Given the description of an element on the screen output the (x, y) to click on. 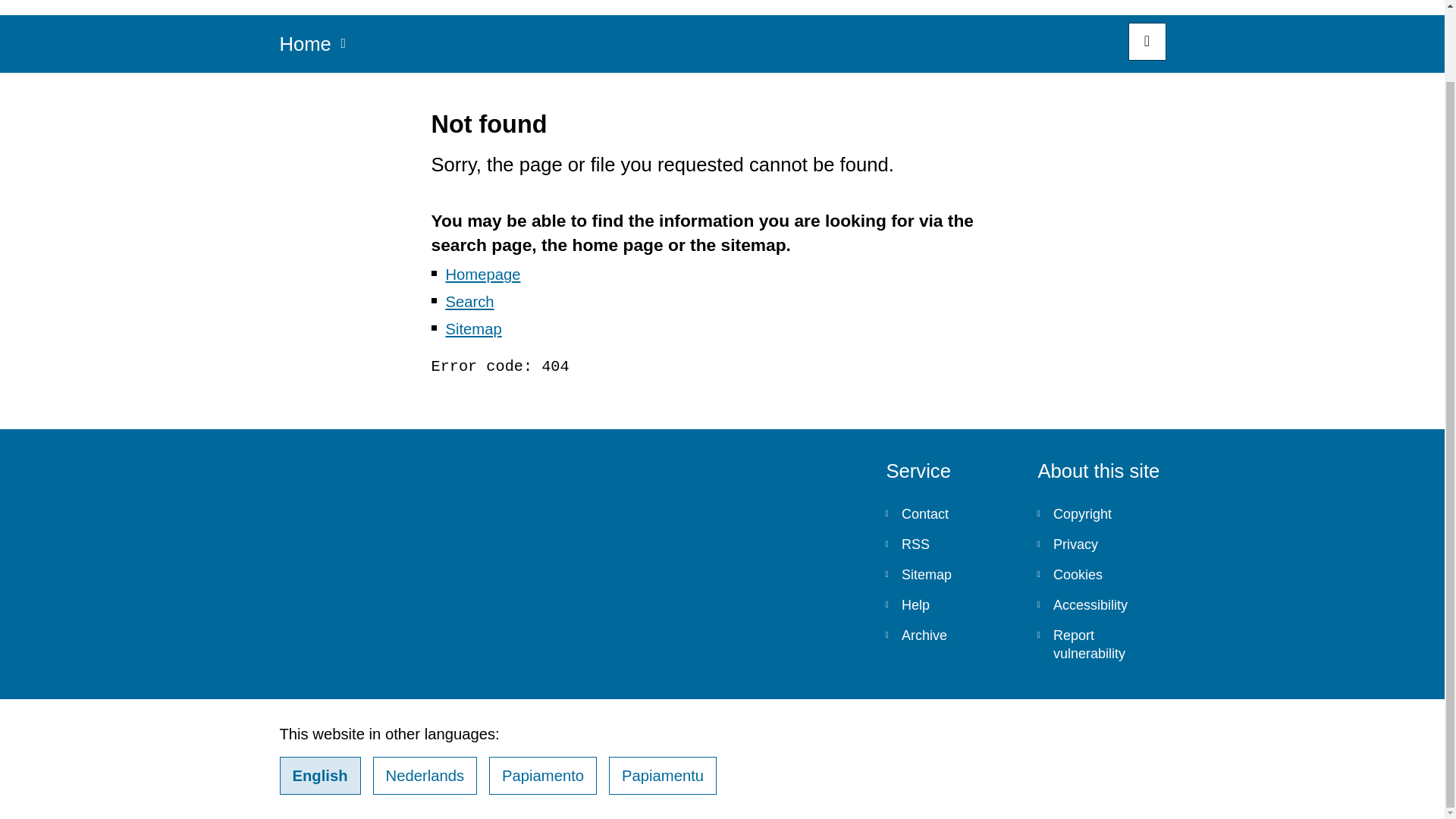
Sitemap (949, 574)
Copyright (1100, 513)
Report vulnerability (1100, 644)
Papiamento (542, 775)
Accessibility (1100, 604)
Privacy (1100, 544)
Search (1146, 41)
Government of the Netherlands (815, 7)
Sitemap (473, 329)
Archive (949, 634)
